Given the description of an element on the screen output the (x, y) to click on. 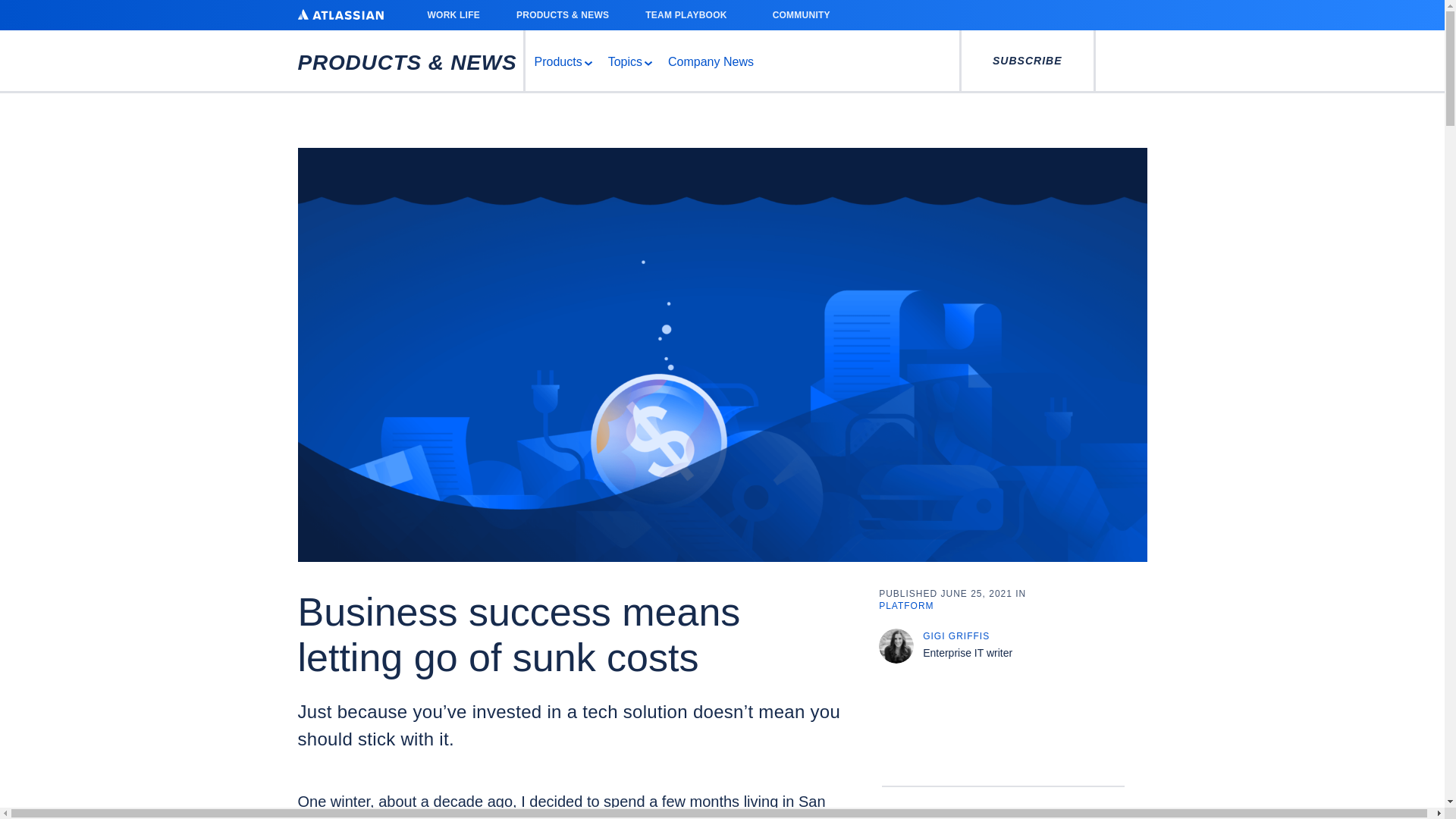
TEAM PLAYBOOK (690, 14)
Products (561, 61)
ATLASSIAN (339, 14)
Topics (628, 61)
Company News (710, 61)
COMMUNITY (806, 14)
WORK LIFE (454, 14)
